Given the description of an element on the screen output the (x, y) to click on. 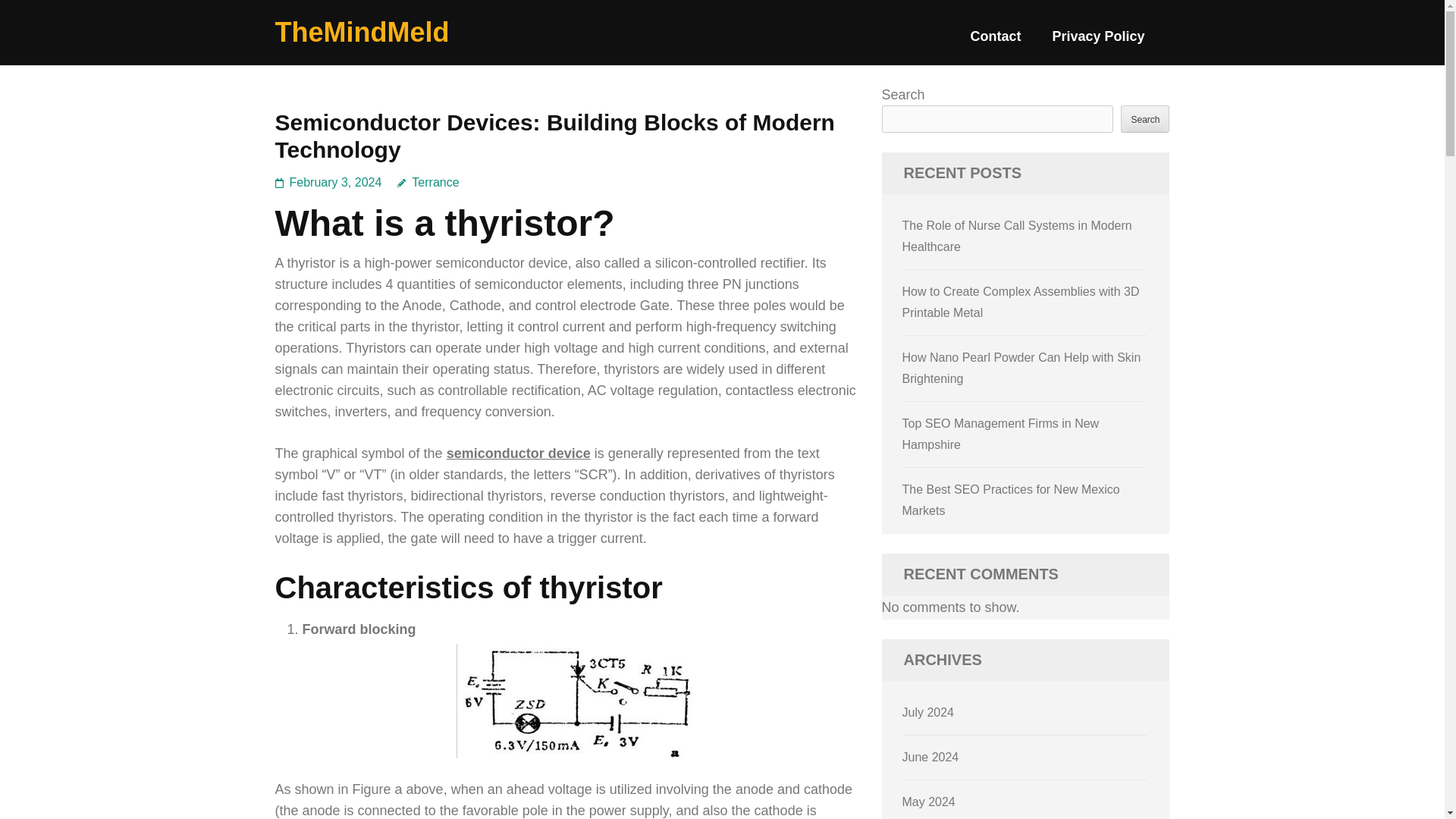
July 2024 (928, 712)
Privacy Policy (1097, 42)
Search (1145, 118)
semiconductor device (518, 453)
The Role of Nurse Call Systems in Modern Healthcare (1017, 236)
Terrance (427, 182)
May 2024 (928, 801)
February 3, 2024 (335, 182)
How to Create Complex Assemblies with 3D Printable Metal (1021, 302)
How Nano Pearl Powder Can Help with Skin Brightening (1021, 367)
TheMindMeld (361, 31)
Contact (994, 42)
Top SEO Management Firms in New Hampshire (1000, 433)
June 2024 (930, 757)
The Best SEO Practices for New Mexico Markets (1010, 499)
